Given the description of an element on the screen output the (x, y) to click on. 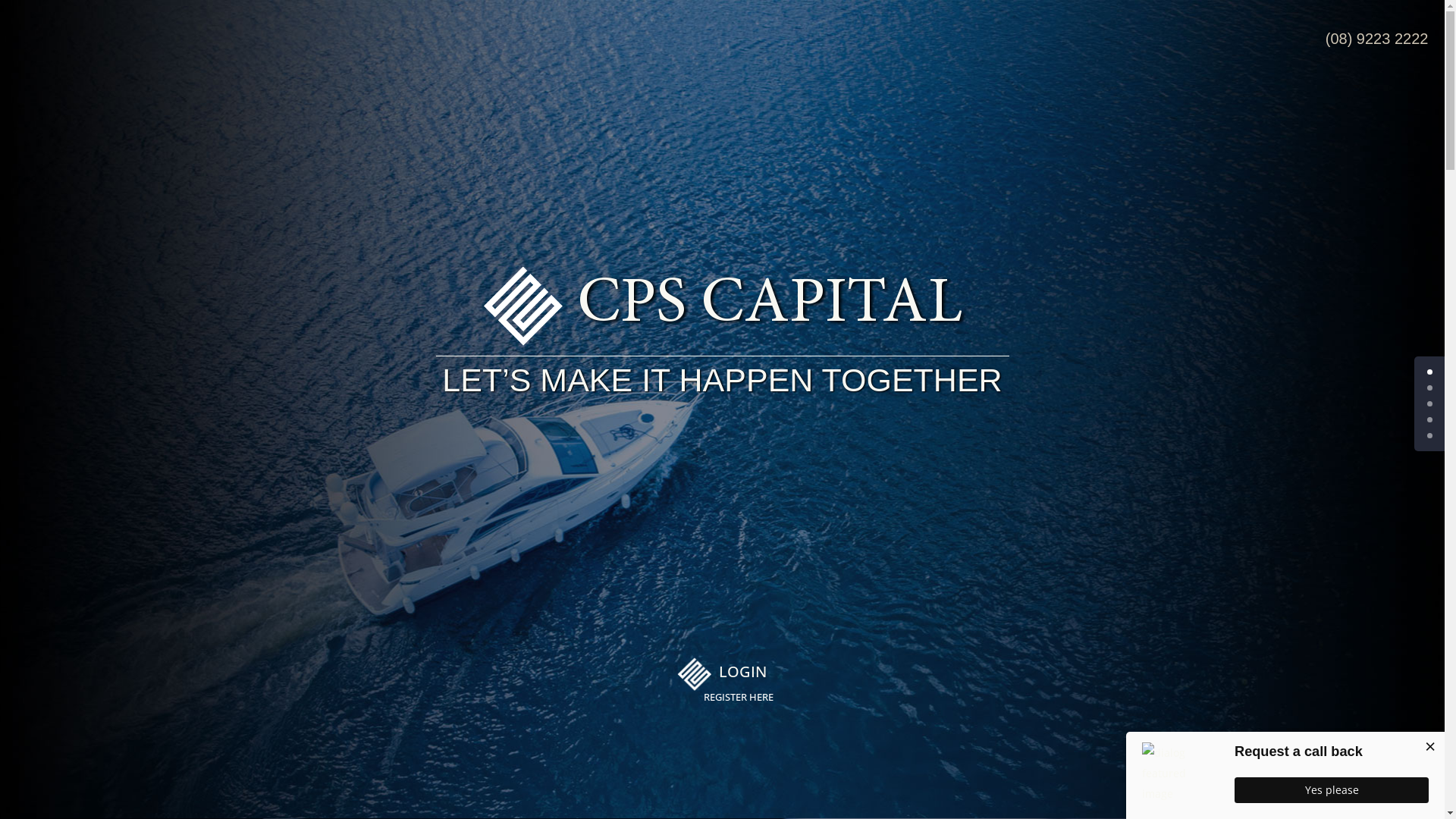
2 Element type: text (1429, 403)
Yes please Element type: text (1331, 790)
1 Element type: text (1429, 387)
CPS_Capital_Tile_Only_REV Element type: hover (693, 674)
REGISTER HERE Element type: text (743, 698)
(08) 9223 2222 Element type: text (1376, 38)
4 Element type: text (1429, 435)
0 Element type: text (1429, 371)
LOGIN Element type: text (749, 671)
3 Element type: text (1429, 419)
